Given the description of an element on the screen output the (x, y) to click on. 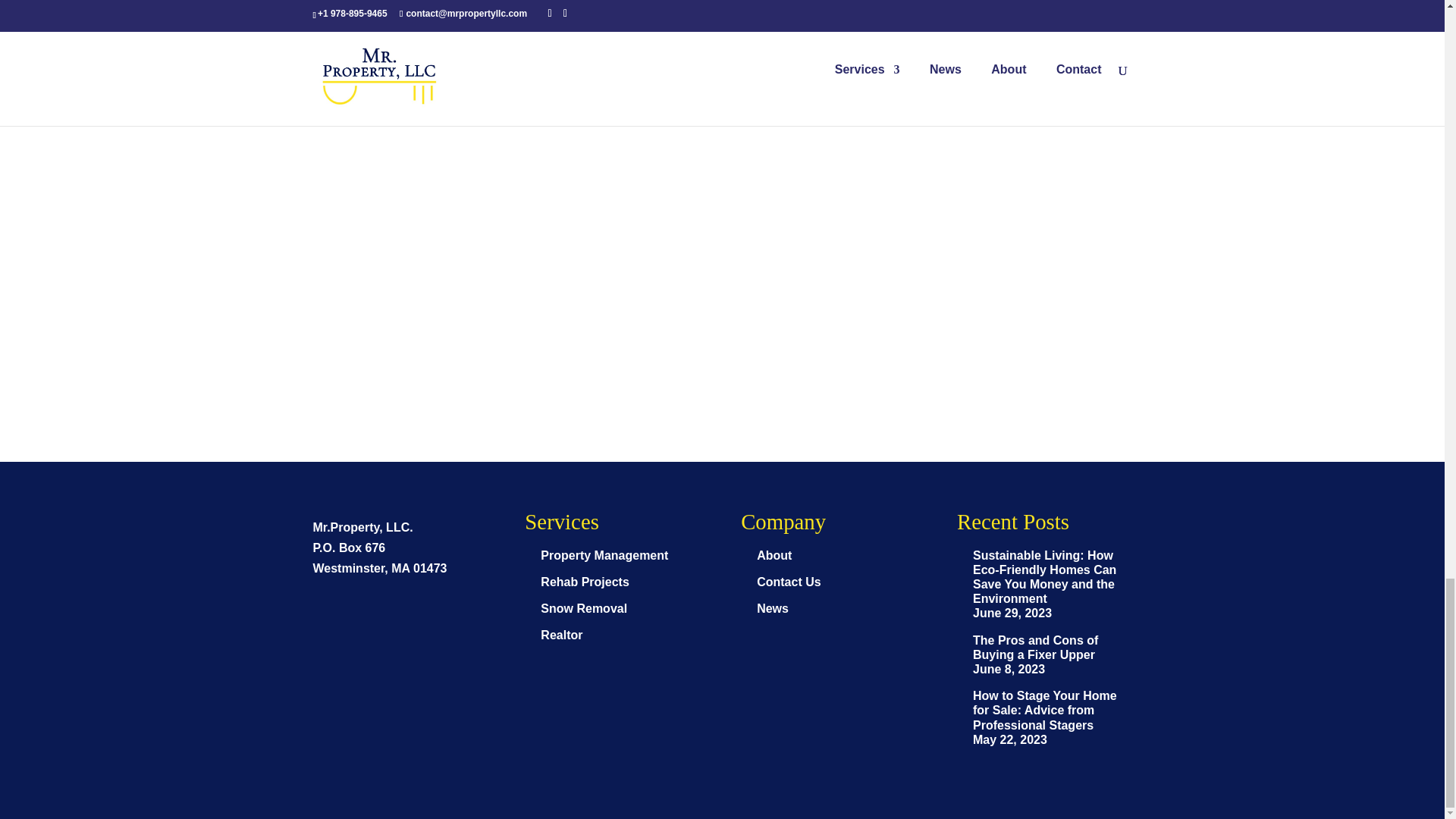
About (774, 554)
News (773, 608)
Realtor (561, 634)
Property Management (604, 554)
Snow Removal (583, 608)
Rehab Projects (584, 581)
Contact Us (789, 581)
